Given the description of an element on the screen output the (x, y) to click on. 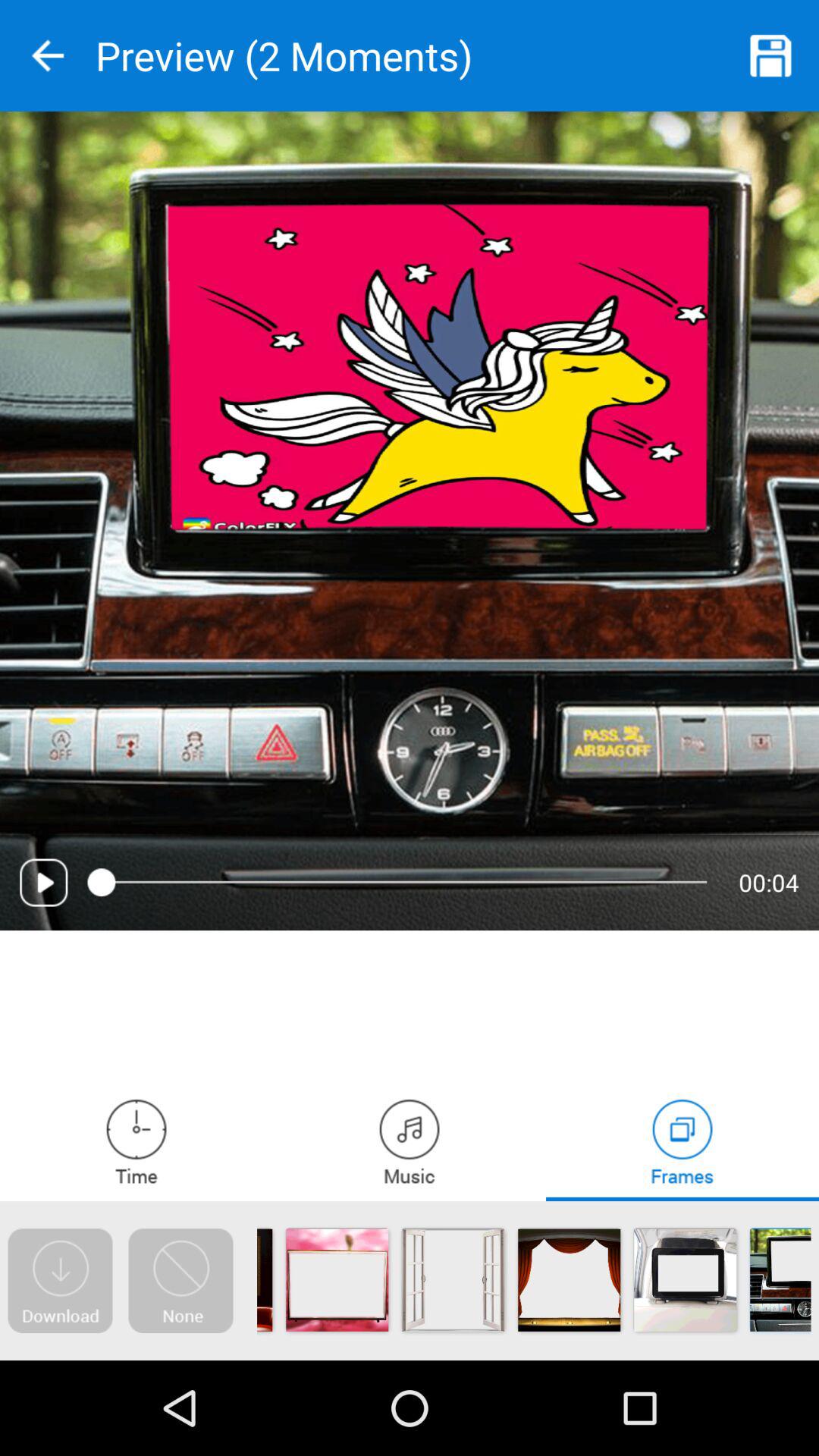
play the audio (43, 882)
